Given the description of an element on the screen output the (x, y) to click on. 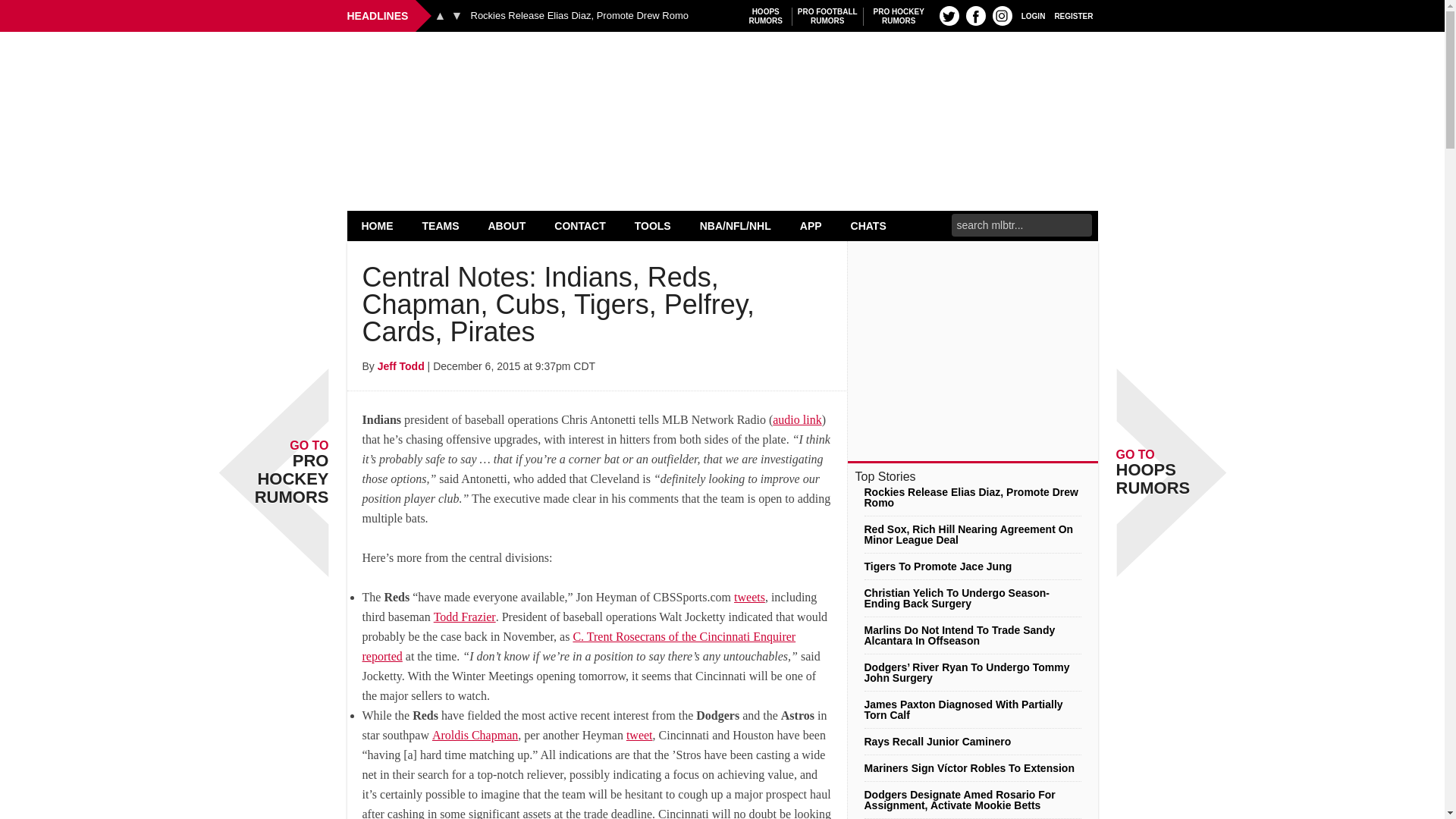
LOGIN (898, 16)
REGISTER (1032, 15)
Next (765, 16)
Previous (1073, 15)
Instagram profile (456, 15)
Rockies Release Elias Diaz, Promote Drew Romo (439, 15)
HOME (1001, 15)
MLB Trade Rumors (579, 15)
